Given the description of an element on the screen output the (x, y) to click on. 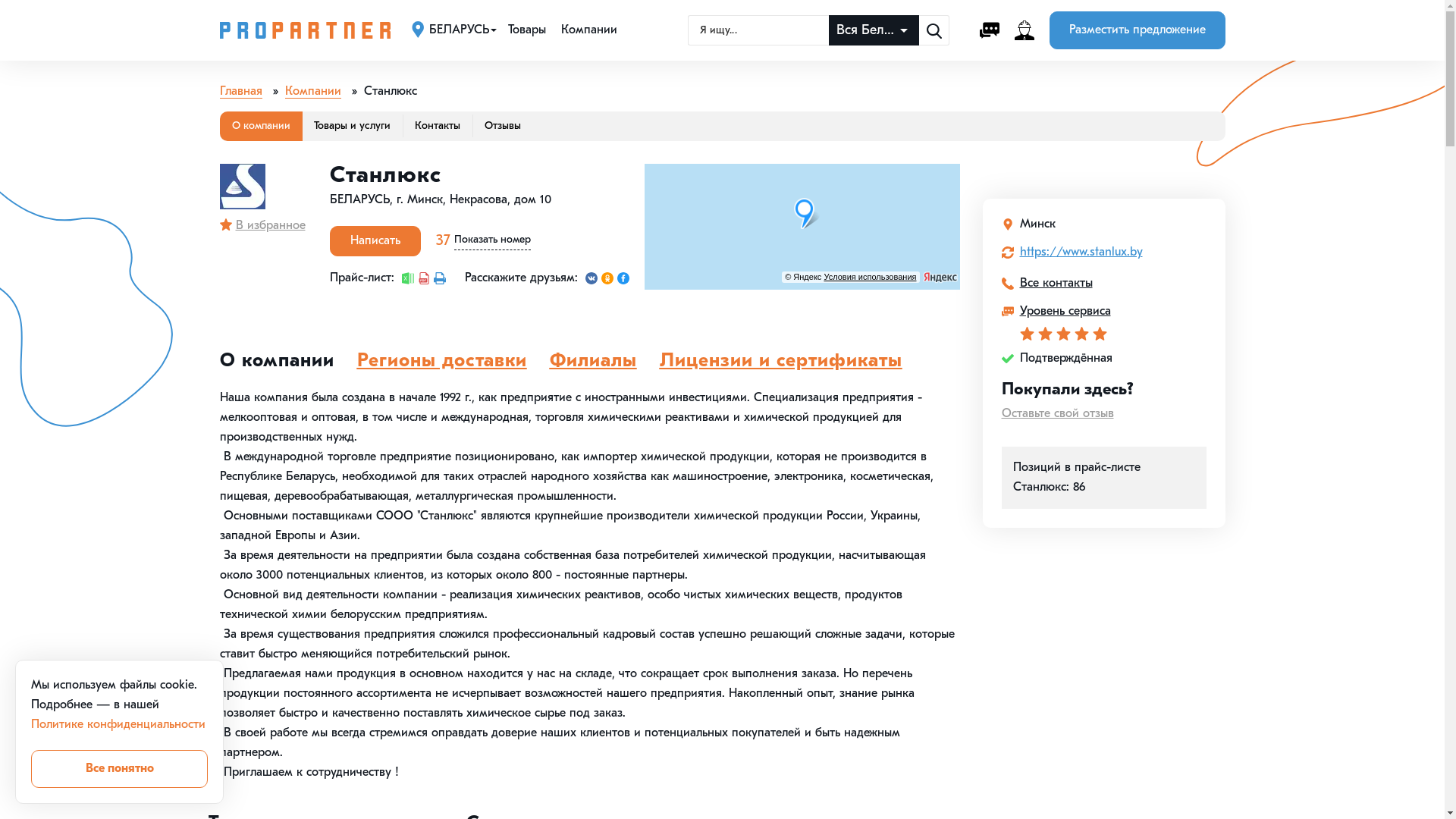
37 Element type: text (442, 240)
Pdf Element type: hover (423, 278)
Excel Element type: hover (407, 278)
Vk Element type: hover (591, 278)
https://www.stanlux.by Element type: text (1080, 252)
Odnoklassniki Element type: hover (606, 278)
Facebook Element type: hover (623, 278)
